Given the description of an element on the screen output the (x, y) to click on. 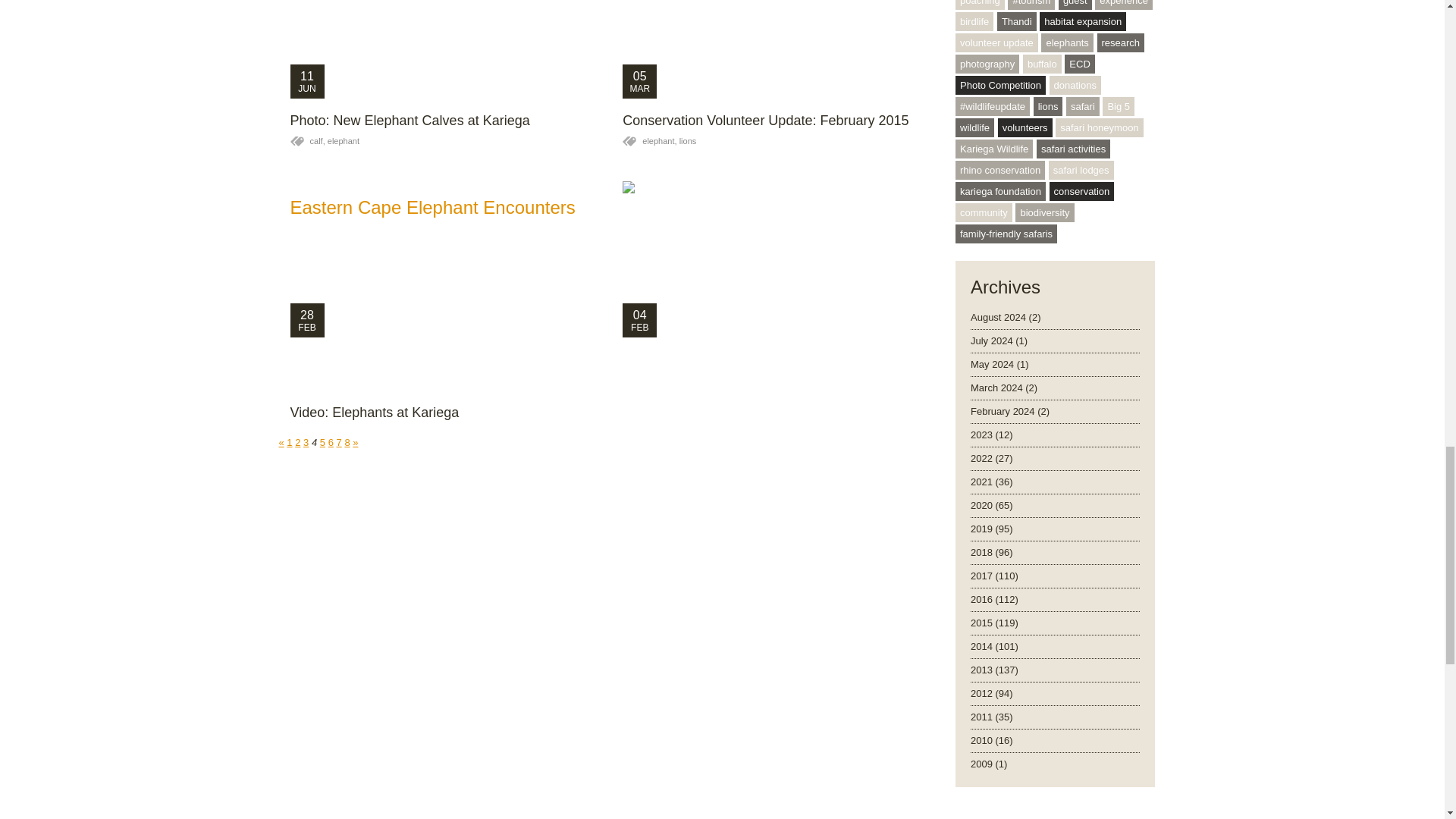
Kariega Elephantcalf Laura Malpass (778, 258)
Kariega Elephantcalf1 Daniel Haesslich June2015 (444, 49)
Kariega River (778, 49)
